Given the description of an element on the screen output the (x, y) to click on. 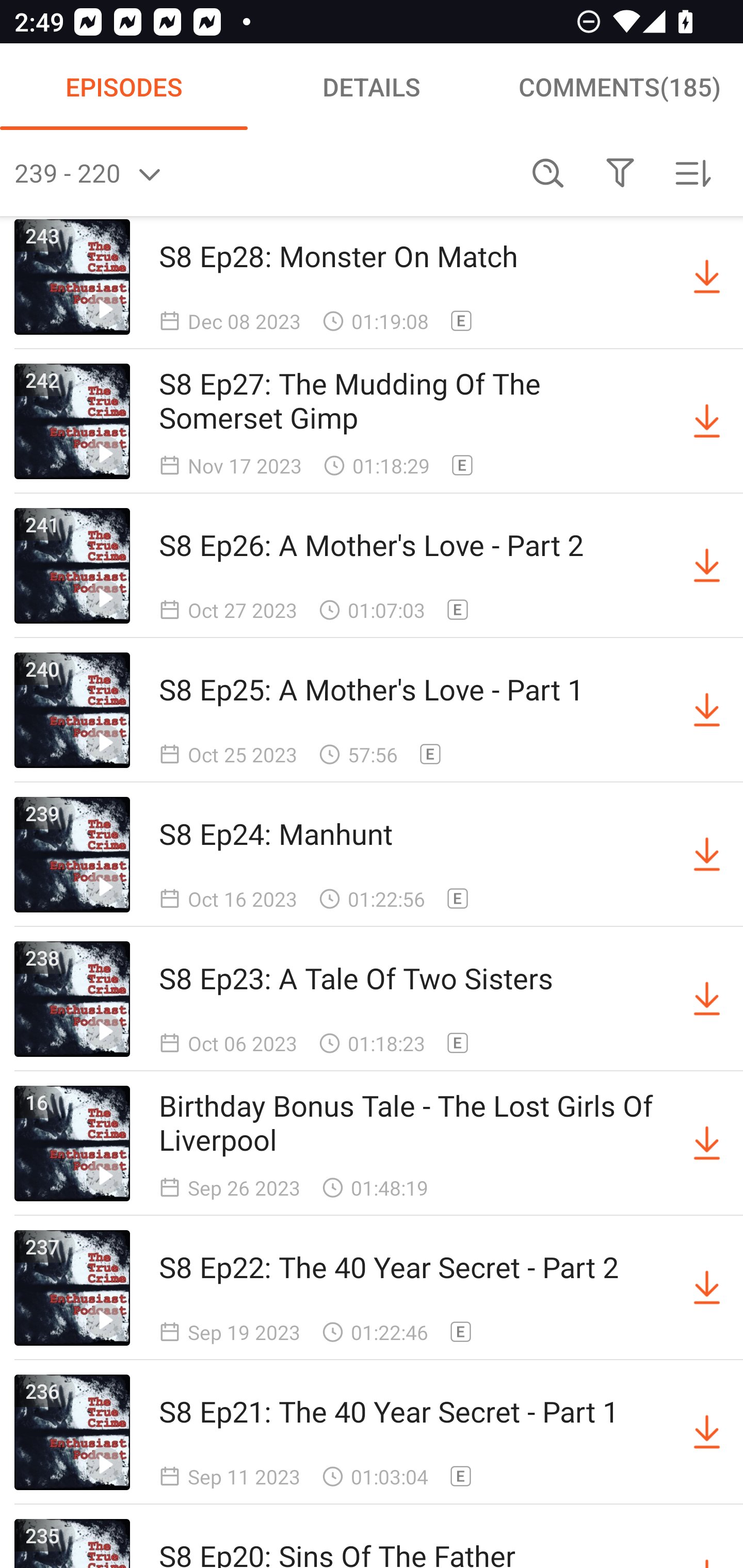
DETAILS (371, 86)
COMMENTS(185) (619, 86)
239 - 220  (262, 173)
 Search (547, 173)
 (619, 173)
 Sorted by newest first (692, 173)
Download (706, 276)
Download (706, 421)
Download (706, 566)
Download (706, 710)
Download (706, 854)
Download (706, 998)
Download (706, 1143)
Download (706, 1287)
Download (706, 1432)
